Given the description of an element on the screen output the (x, y) to click on. 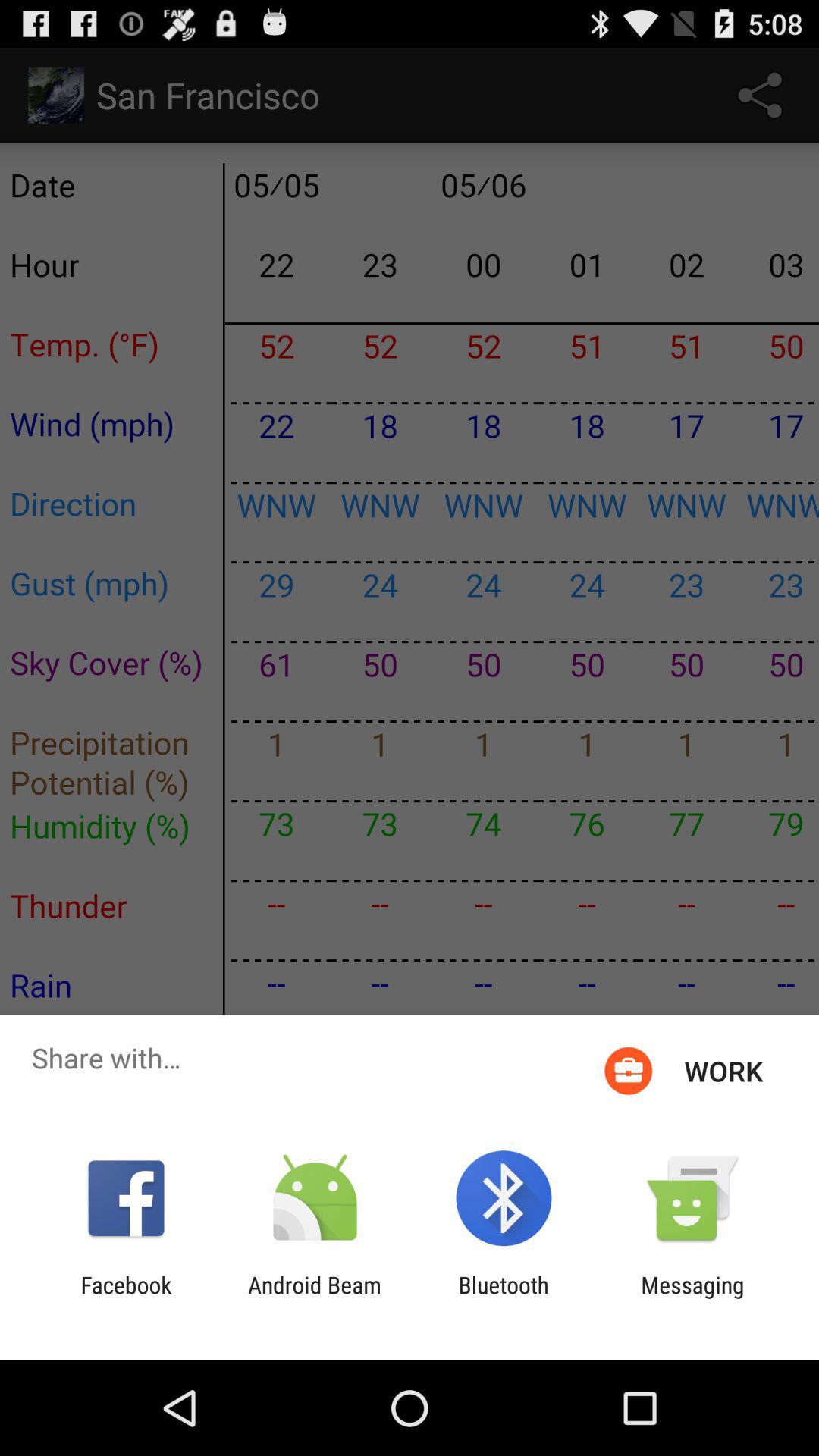
turn off facebook item (125, 1298)
